Given the description of an element on the screen output the (x, y) to click on. 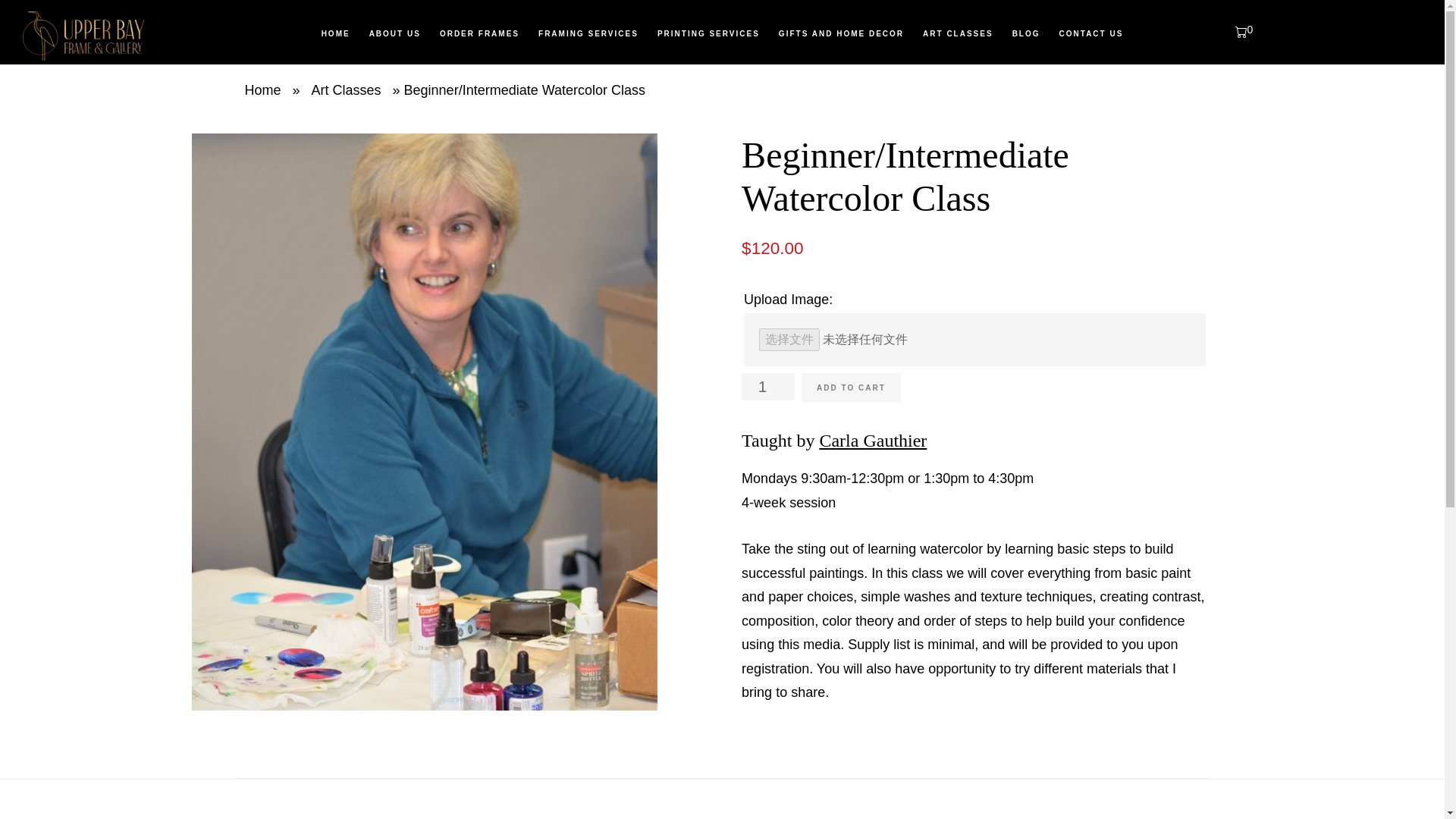
Visit the Artist's Website (872, 440)
ART CLASSES (958, 33)
Carla Gauthier (872, 440)
UPPER BAY FRAME AND GALLERY (136, 35)
GIFTS AND HOME DECOR (841, 33)
1 (767, 386)
ADD TO CART (851, 387)
Art Classes (346, 89)
ORDER FRAMES (479, 33)
CONTACT US (1091, 33)
FRAMING SERVICES (588, 33)
PRINTING SERVICES (708, 33)
Home (261, 89)
ABOUT US (394, 33)
